Given the description of an element on the screen output the (x, y) to click on. 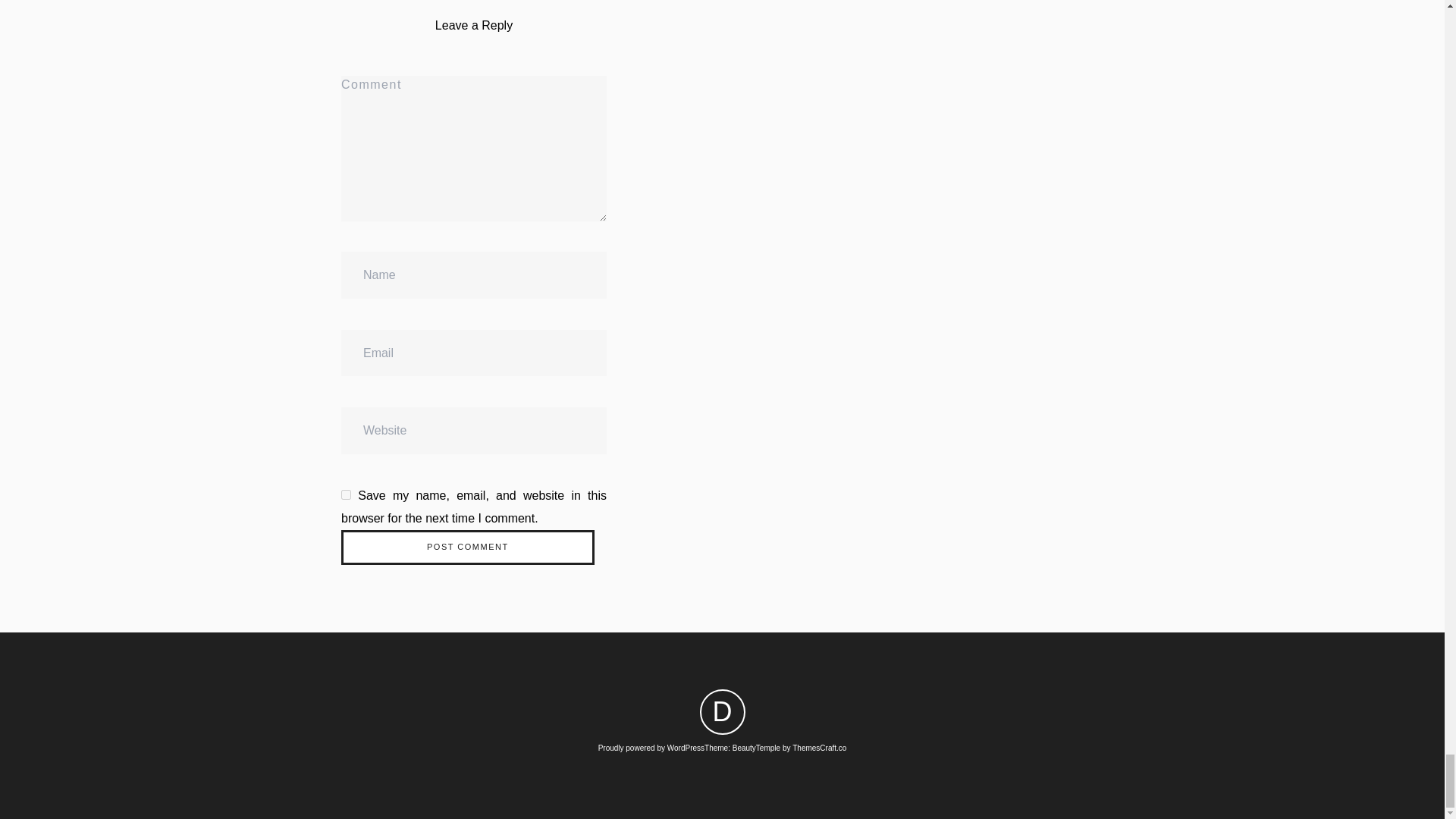
yes (345, 494)
Post Comment (467, 547)
